Given the description of an element on the screen output the (x, y) to click on. 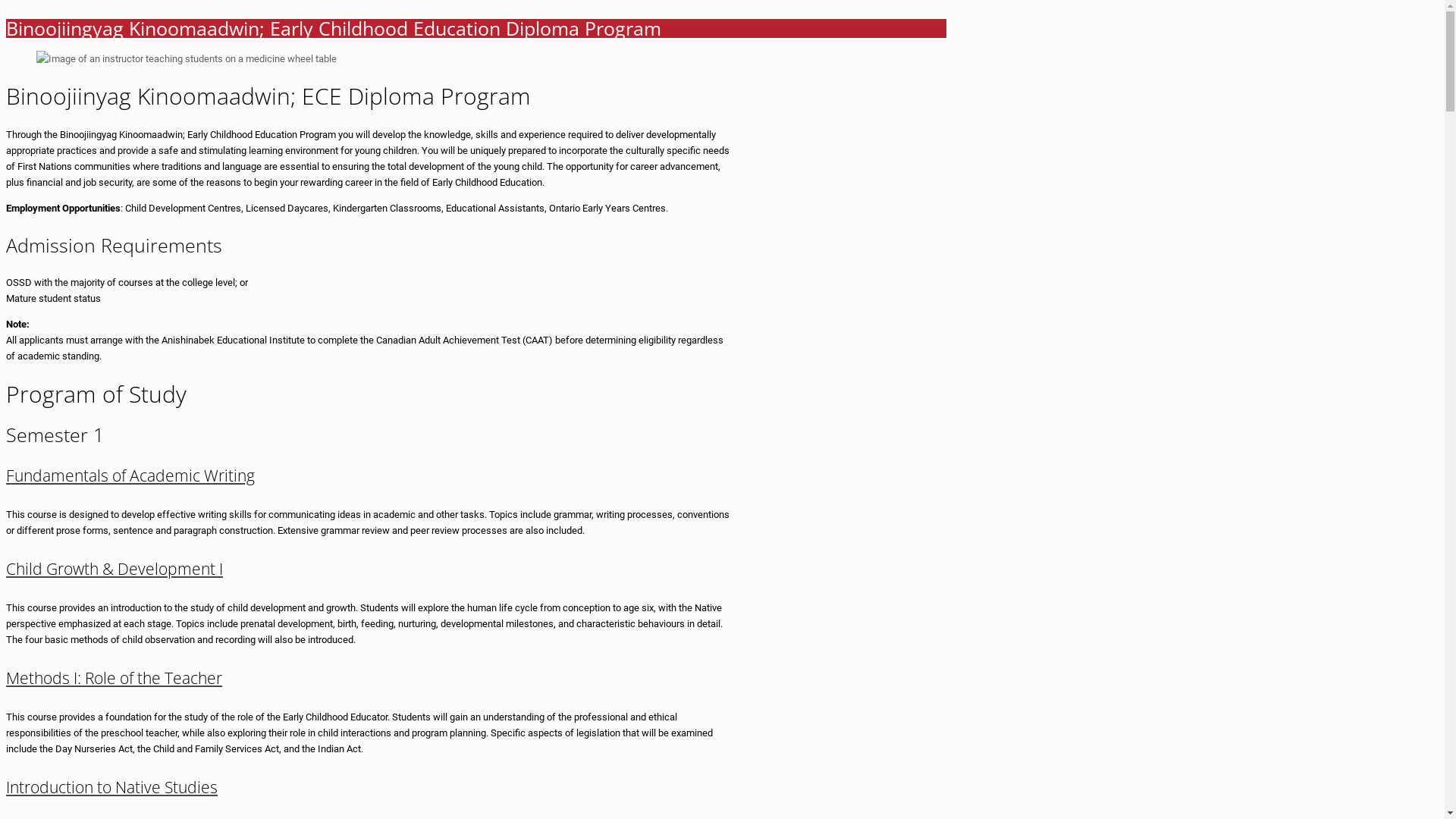
Methods I: Role of the Teacher Element type: text (114, 677)
Fundamentals of Academic Writing Element type: text (130, 475)
Child Growth & Development I Element type: text (114, 568)
Instructor teaching students on a medicine wheel table Element type: hover (186, 57)
Introduction to Native Studies Element type: text (111, 786)
